Given the description of an element on the screen output the (x, y) to click on. 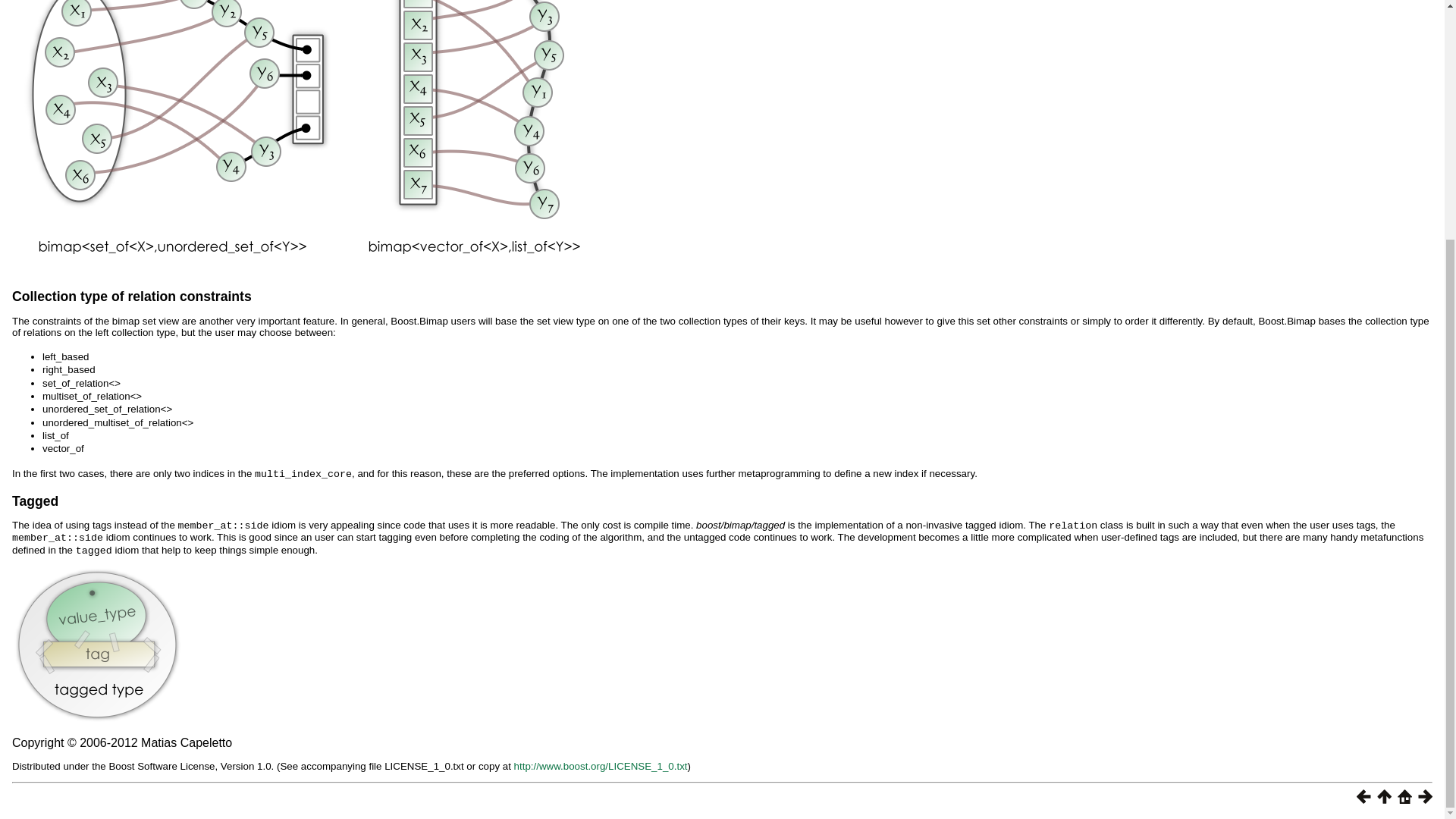
Collection type of relation constraints (131, 296)
Tagged (34, 500)
